Given the description of an element on the screen output the (x, y) to click on. 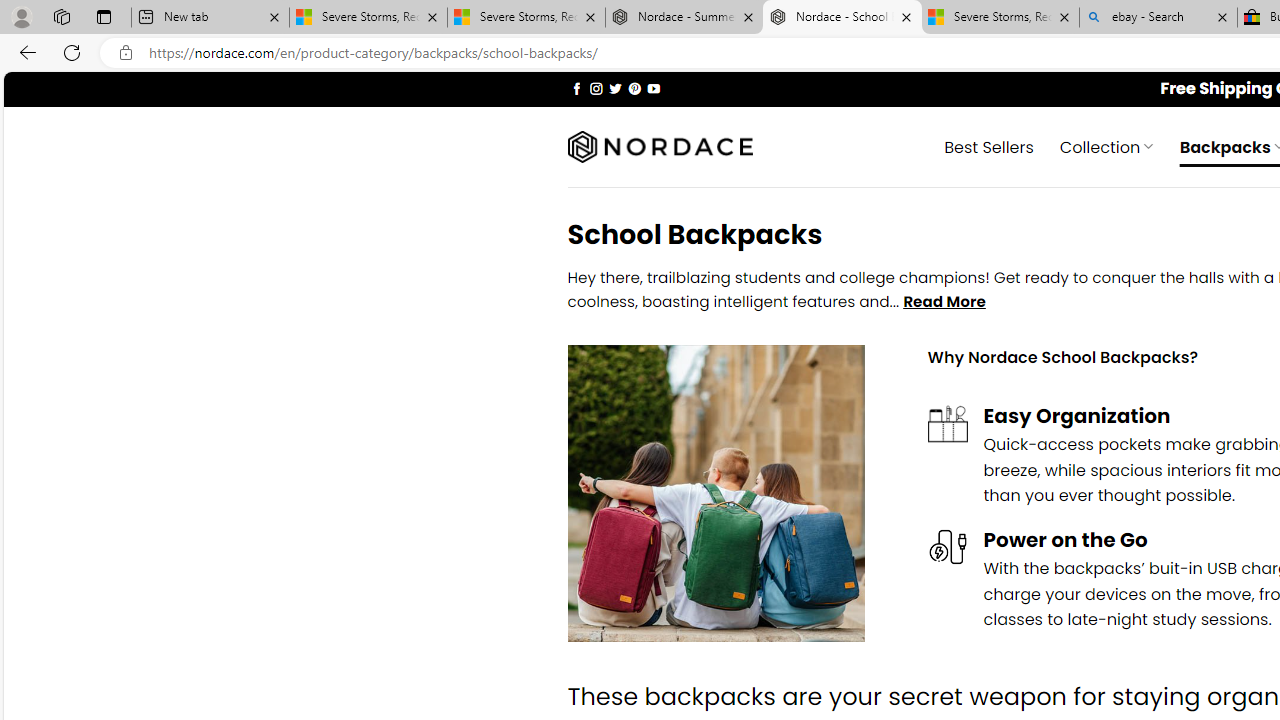
Read More (943, 301)
